Given the description of an element on the screen output the (x, y) to click on. 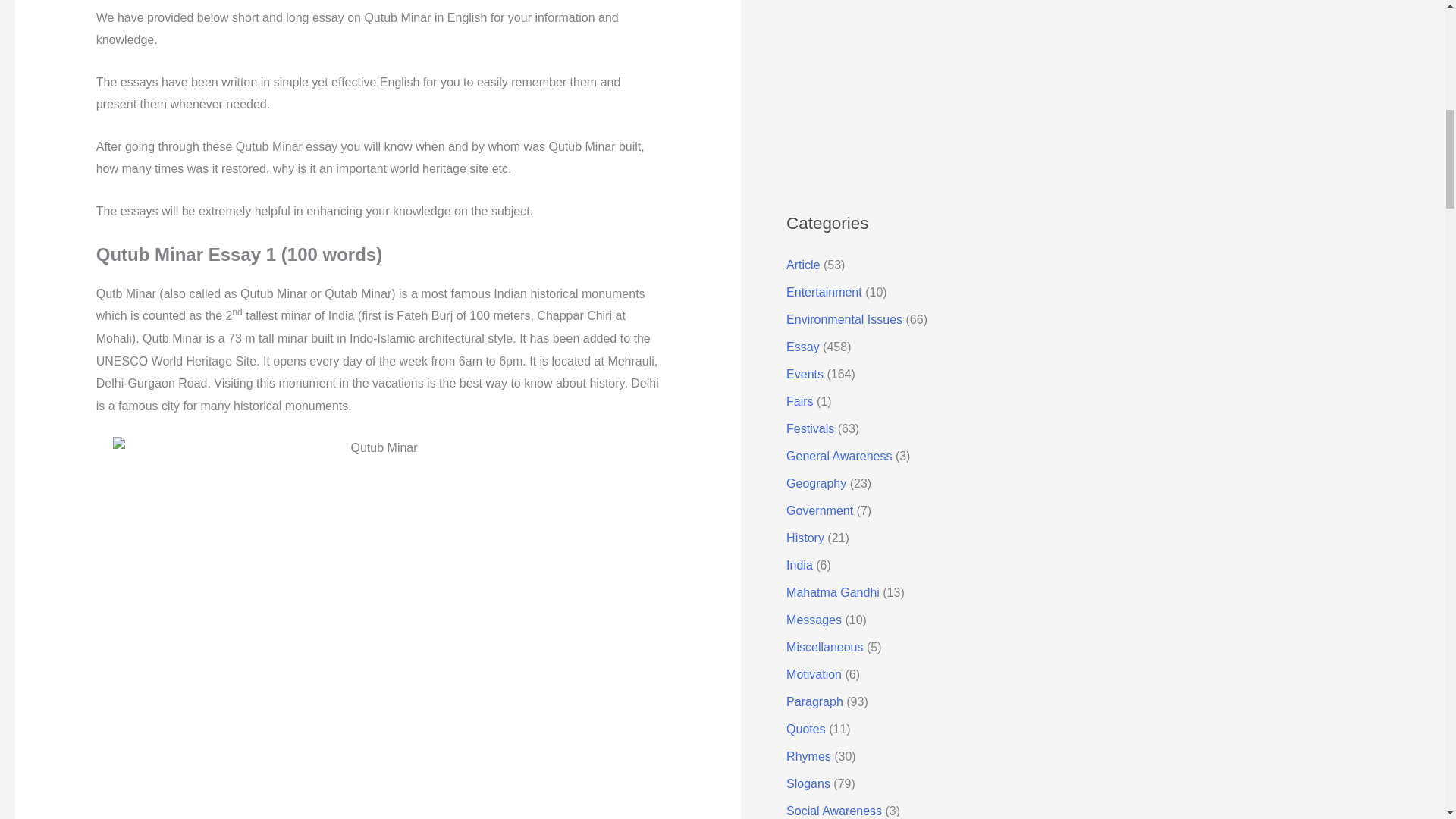
Advertisement (928, 88)
Advertisement (378, 3)
